Given the description of an element on the screen output the (x, y) to click on. 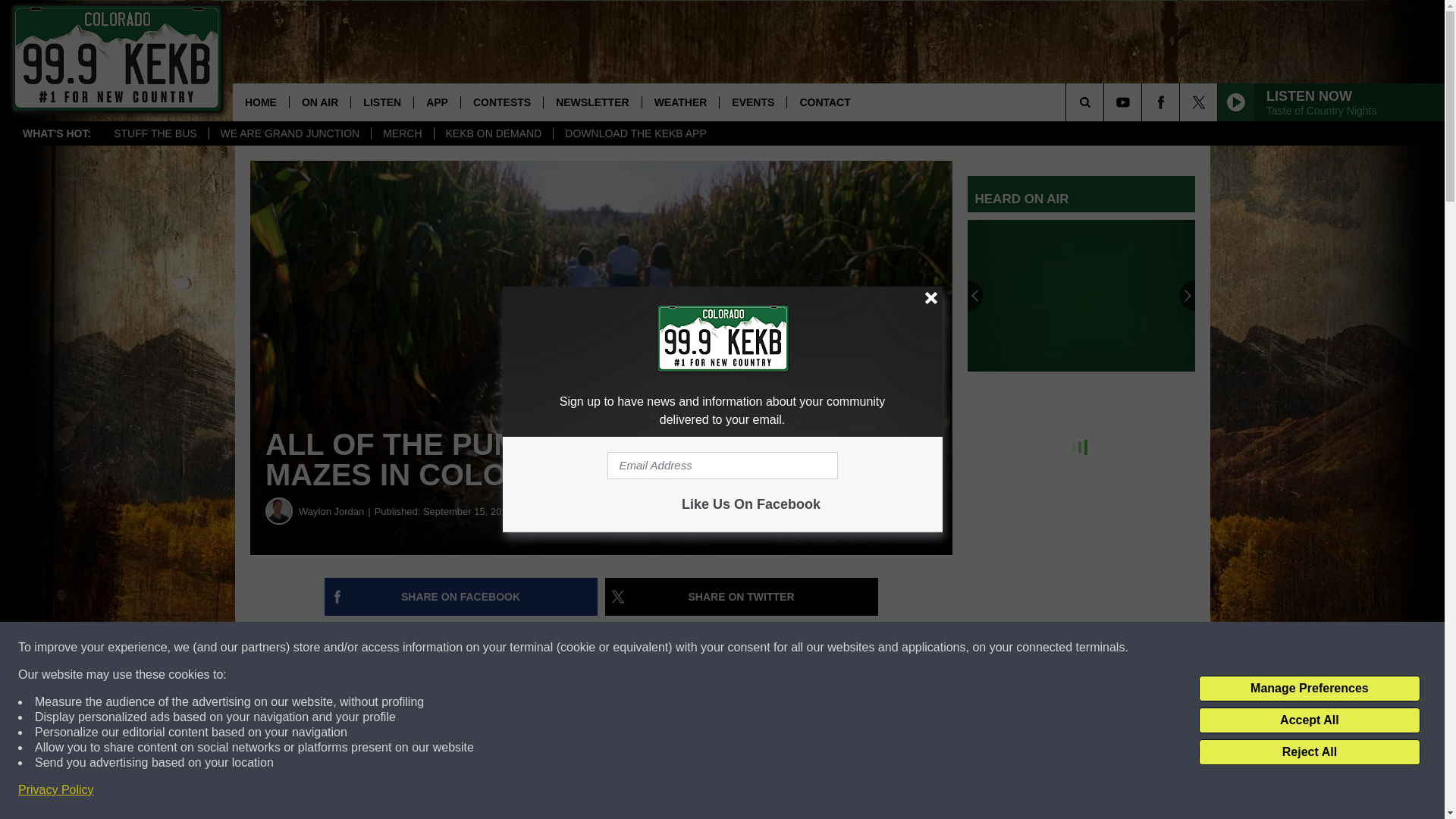
STUFF THE BUS (154, 133)
Accept All (1309, 720)
DOWNLOAD THE KEKB APP (635, 133)
CONTESTS (501, 102)
Privacy Policy (55, 789)
LISTEN (381, 102)
Share on Facebook (460, 596)
WE ARE GRAND JUNCTION (289, 133)
KEKB ON DEMAND (493, 133)
MERCH (401, 133)
ON AIR (319, 102)
SEARCH (1106, 102)
Reject All (1309, 751)
Email Address (722, 465)
APP (436, 102)
